Given the description of an element on the screen output the (x, y) to click on. 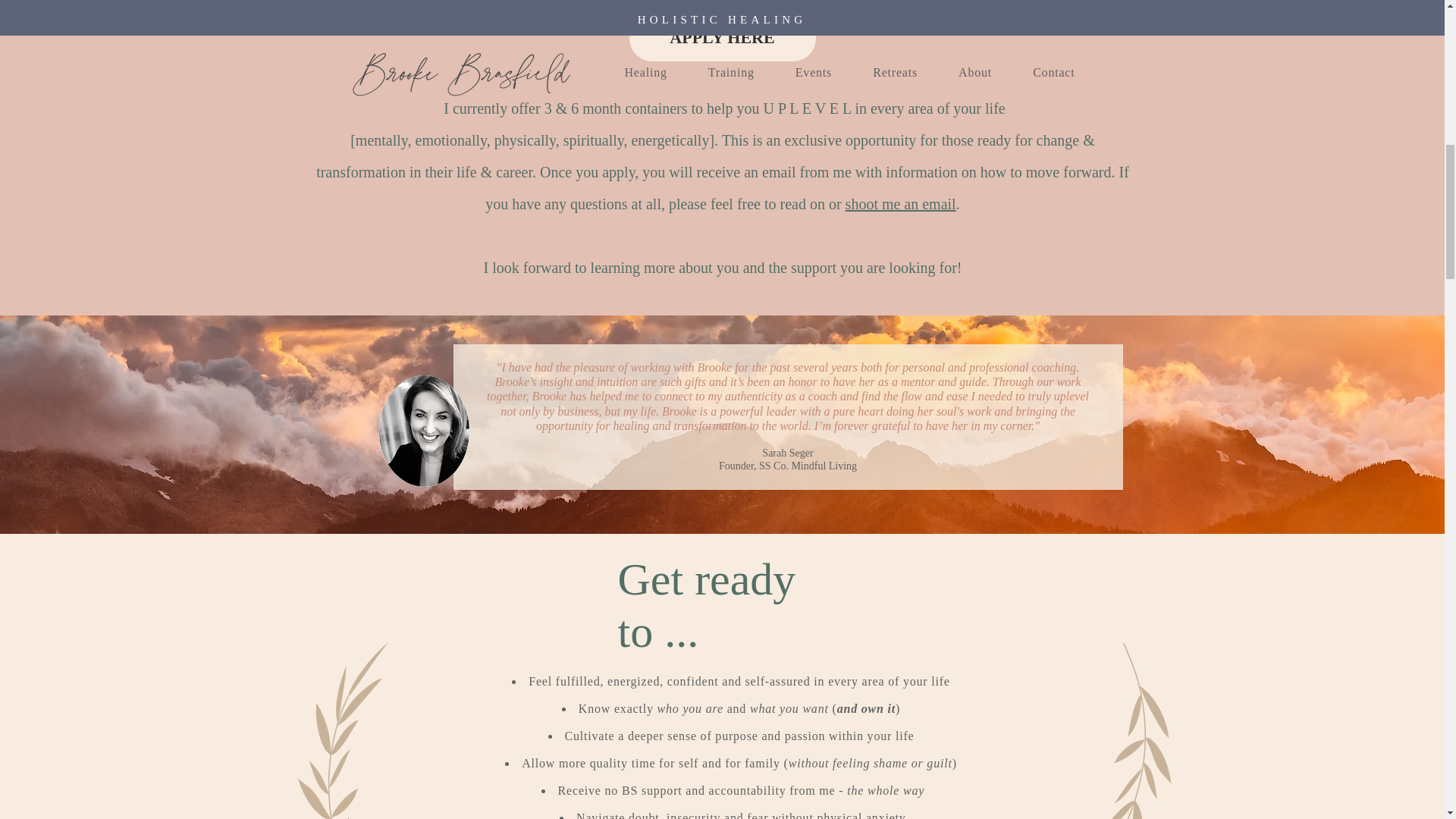
shoot me an email (900, 203)
APPLY HERE (721, 38)
